Given the description of an element on the screen output the (x, y) to click on. 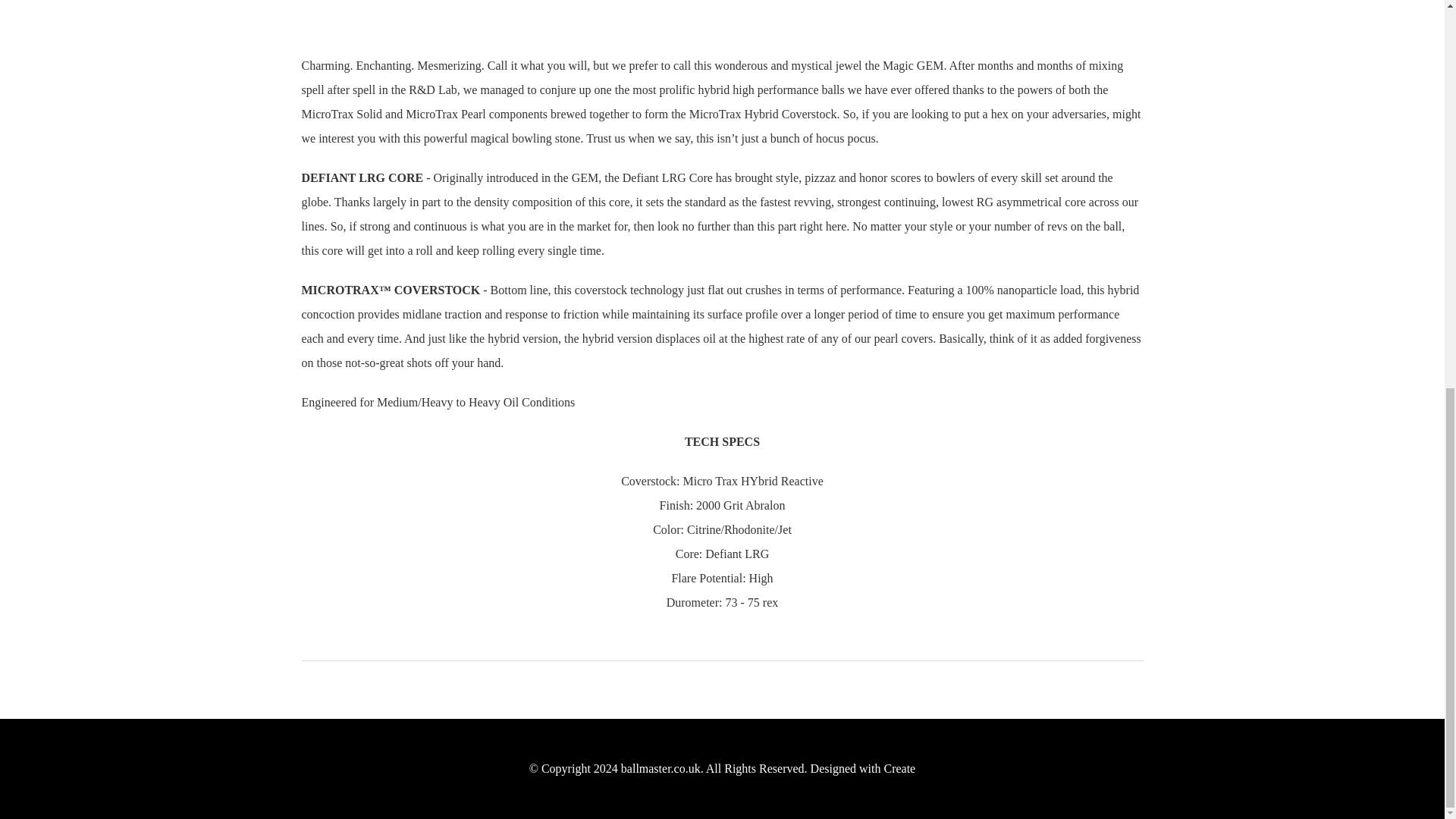
PayPal Message 1 (1009, 4)
